Given the description of an element on the screen output the (x, y) to click on. 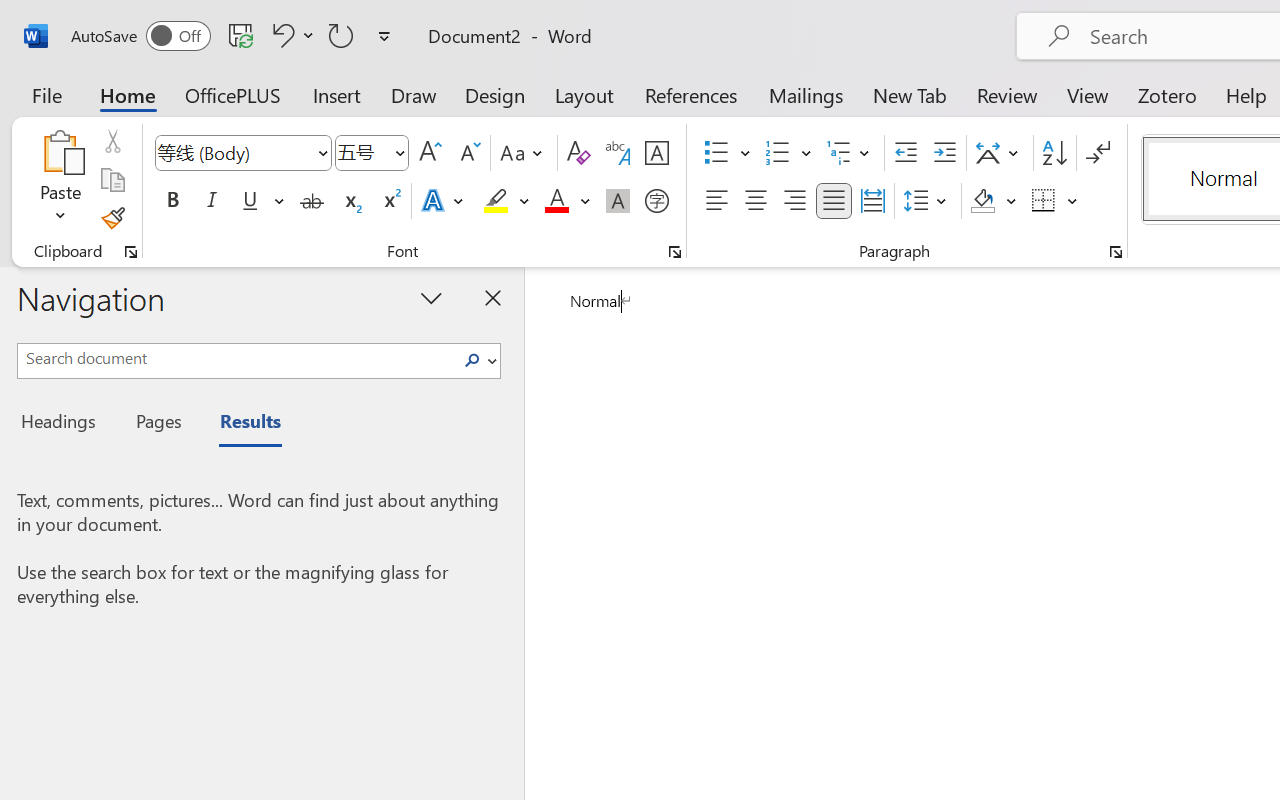
Distributed (872, 201)
Design (495, 94)
Text Highlight Color (506, 201)
Enclose Characters... (656, 201)
Strikethrough (312, 201)
File Tab (46, 94)
Shading (993, 201)
Save (241, 35)
Quick Access Toolbar (233, 36)
